Given the description of an element on the screen output the (x, y) to click on. 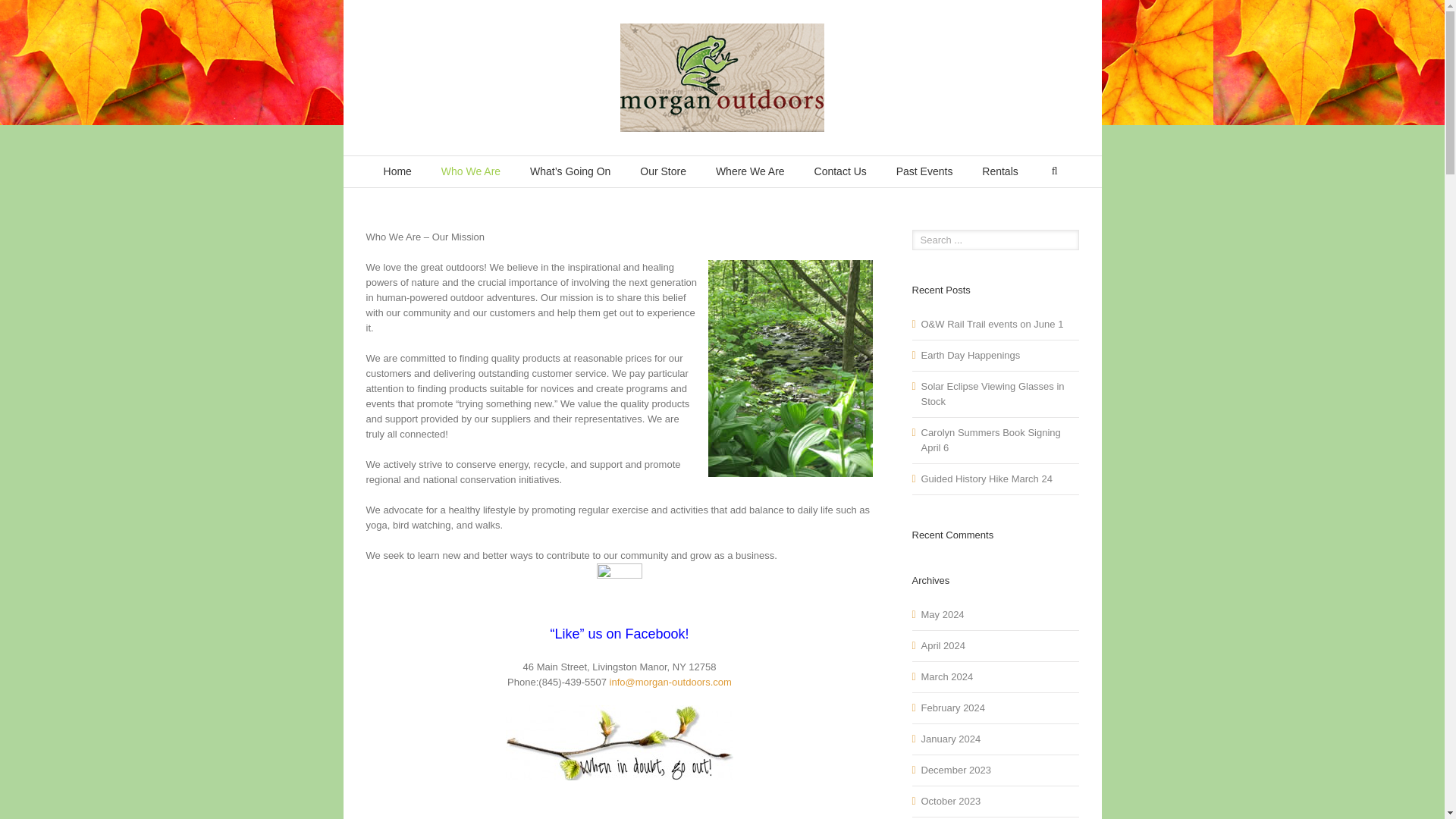
Our Store (662, 171)
Who We Are (470, 171)
Past Events (924, 171)
Rentals (999, 171)
Contact Us (839, 171)
Where We Are (750, 171)
Home (398, 171)
